Given the description of an element on the screen output the (x, y) to click on. 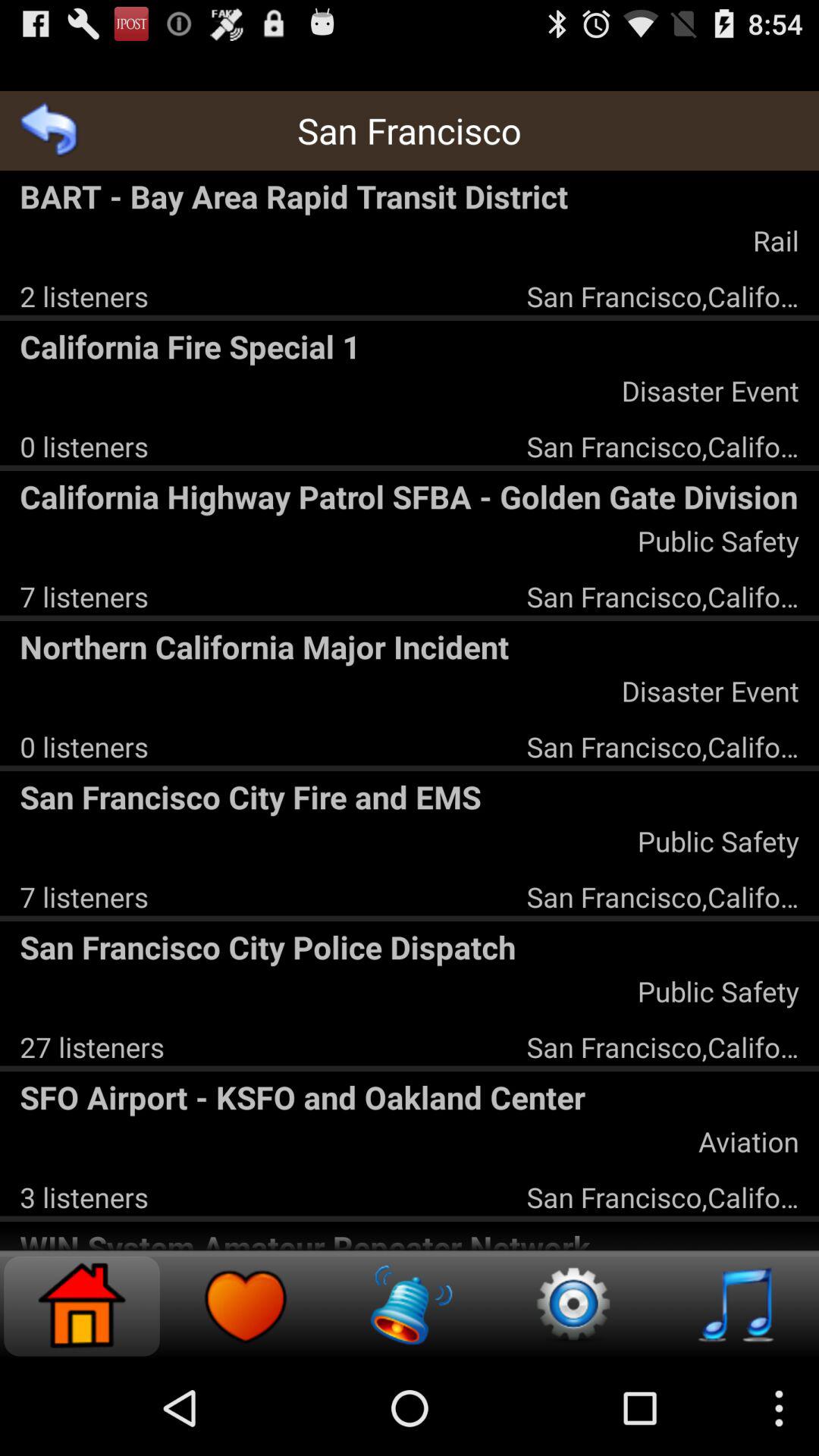
launch 27 listeners icon (91, 1046)
